Given the description of an element on the screen output the (x, y) to click on. 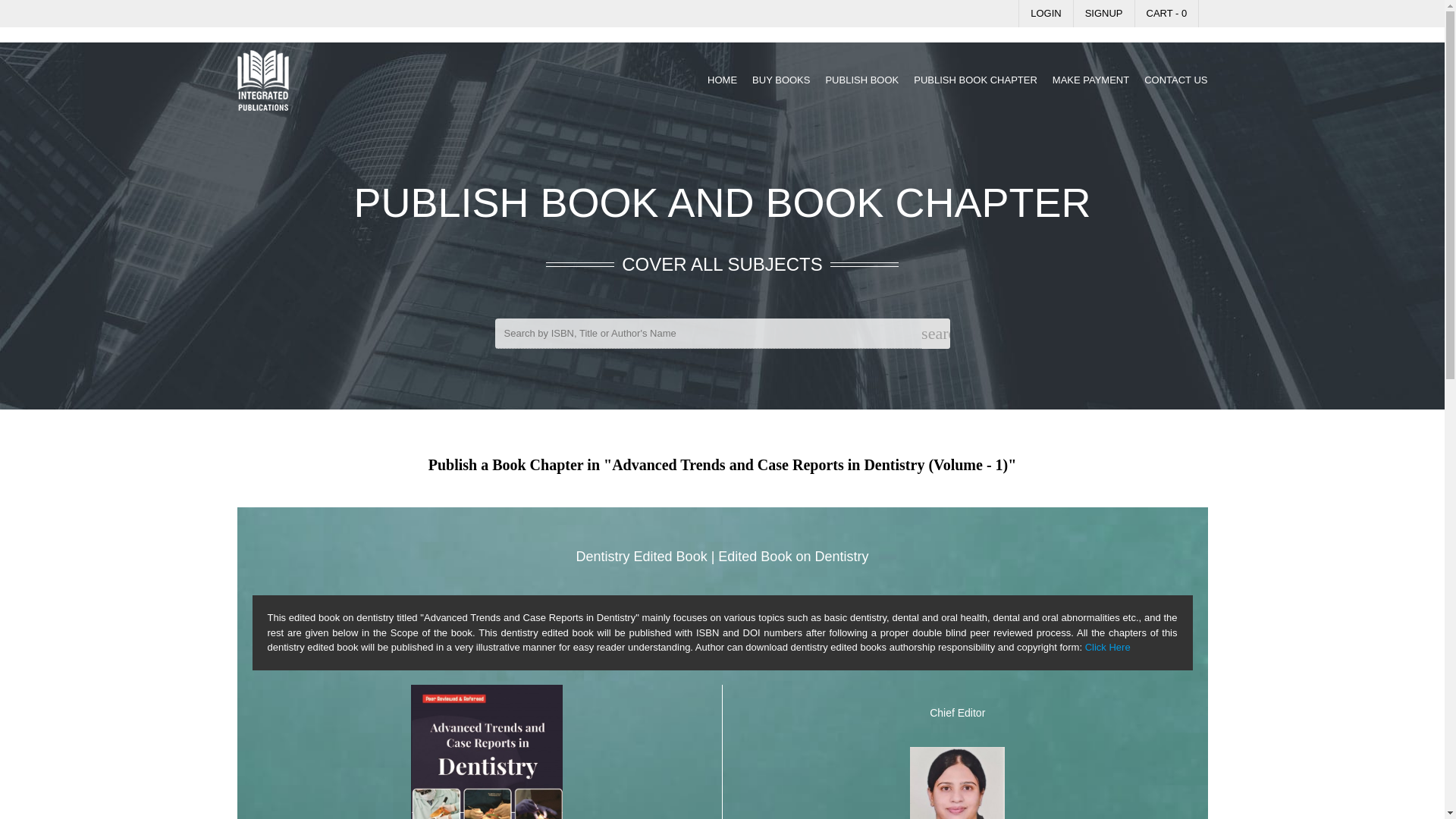
Click Here (1107, 646)
S. Jyotsna editor of edited book on dentistry (957, 782)
BUY BOOKS (780, 80)
MAKE PAYMENT (1090, 80)
PUBLISH BOOK CHAPTER (975, 80)
CONTACT US (1175, 80)
SIGNUP (1103, 13)
HOME (721, 80)
CART - 0 (1166, 13)
